Given the description of an element on the screen output the (x, y) to click on. 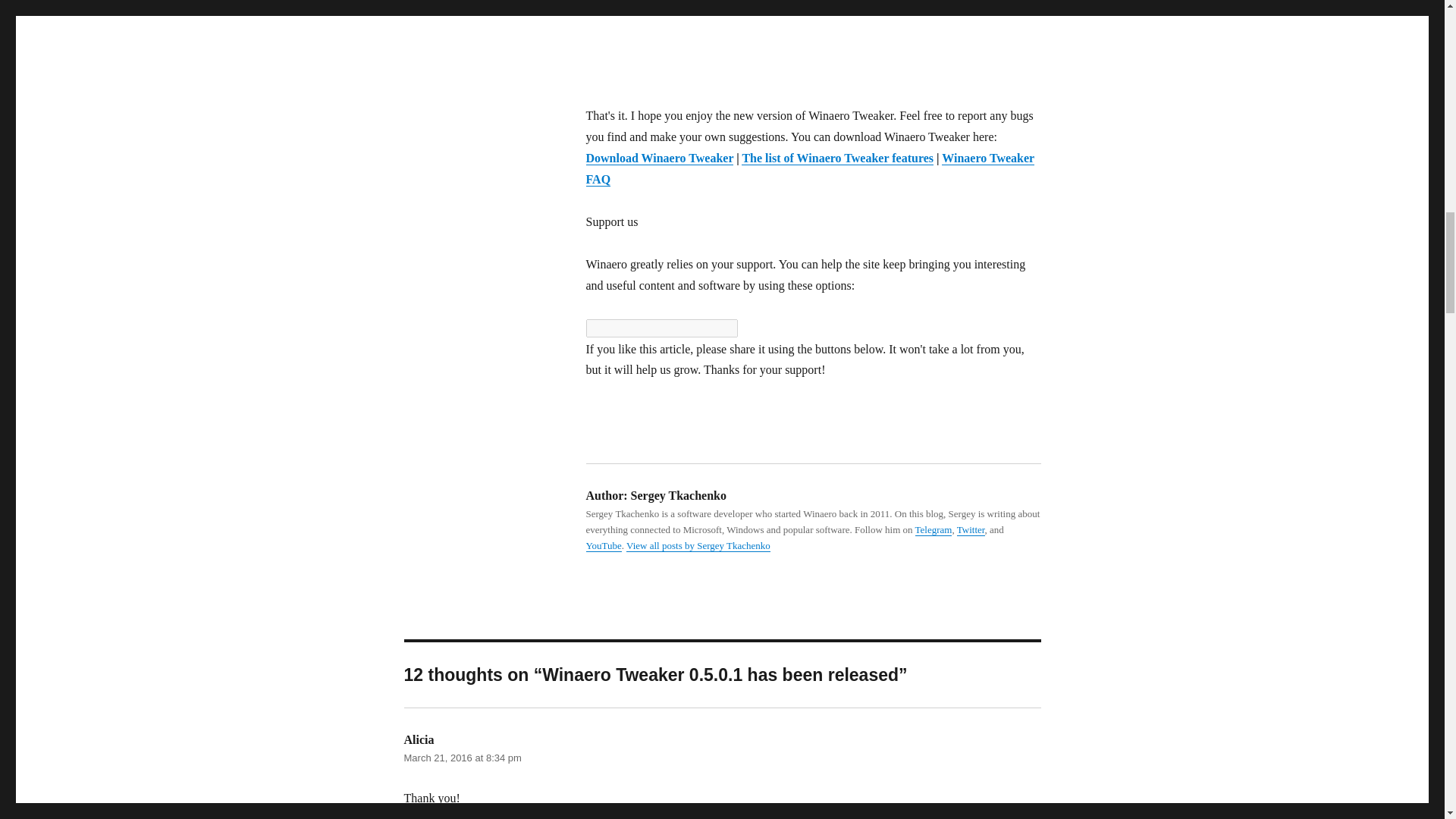
March 21, 2016 at 8:34 pm (462, 757)
Winaero Tweaker FAQ (809, 168)
YouTube (603, 545)
The list of Winaero Tweaker features (837, 157)
Download Winaero Tweaker (659, 157)
View all posts by Sergey Tkachenko (698, 545)
Twitter (970, 529)
Telegram (933, 529)
